Given the description of an element on the screen output the (x, y) to click on. 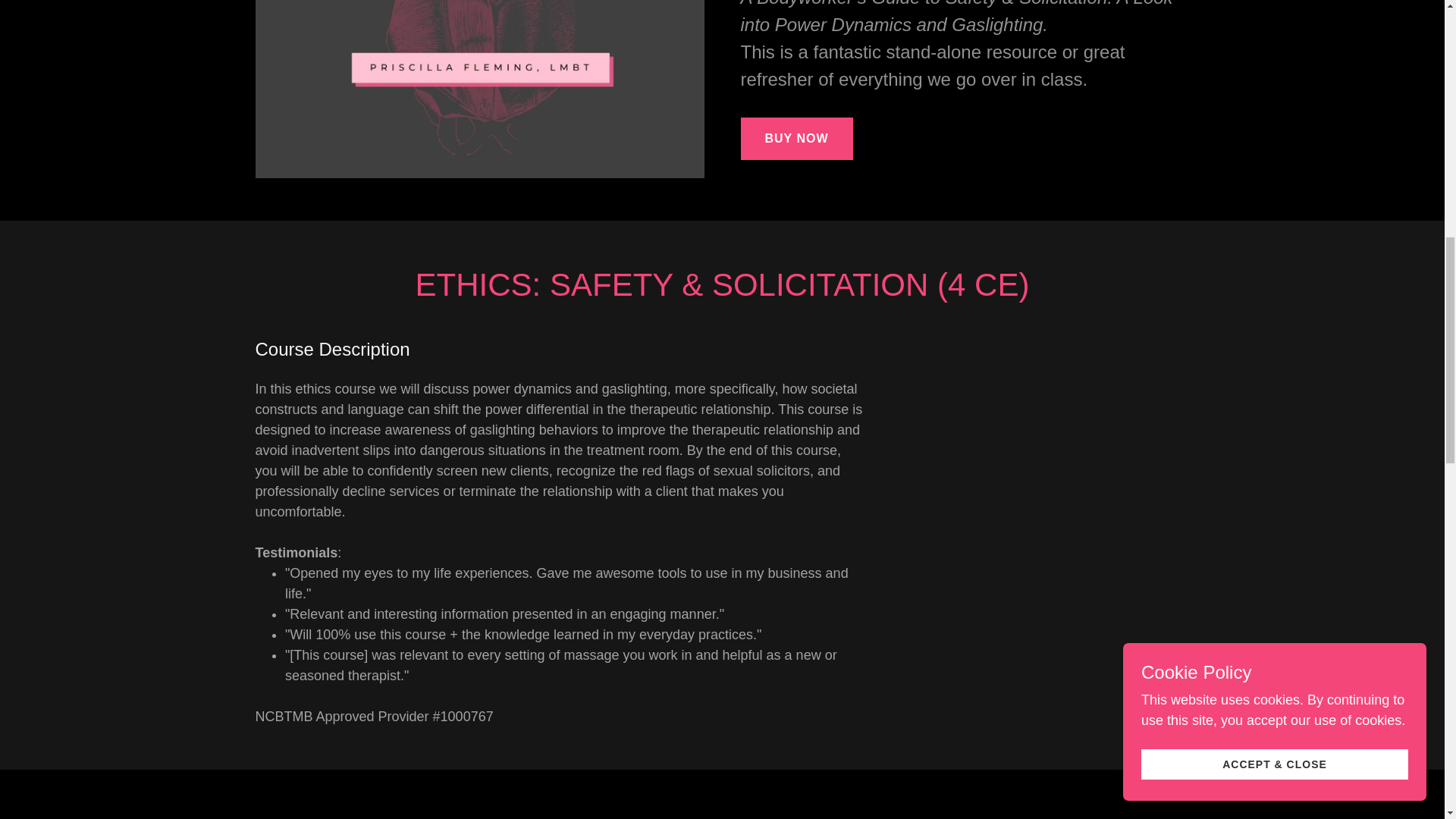
BUY NOW (795, 138)
